Given the description of an element on the screen output the (x, y) to click on. 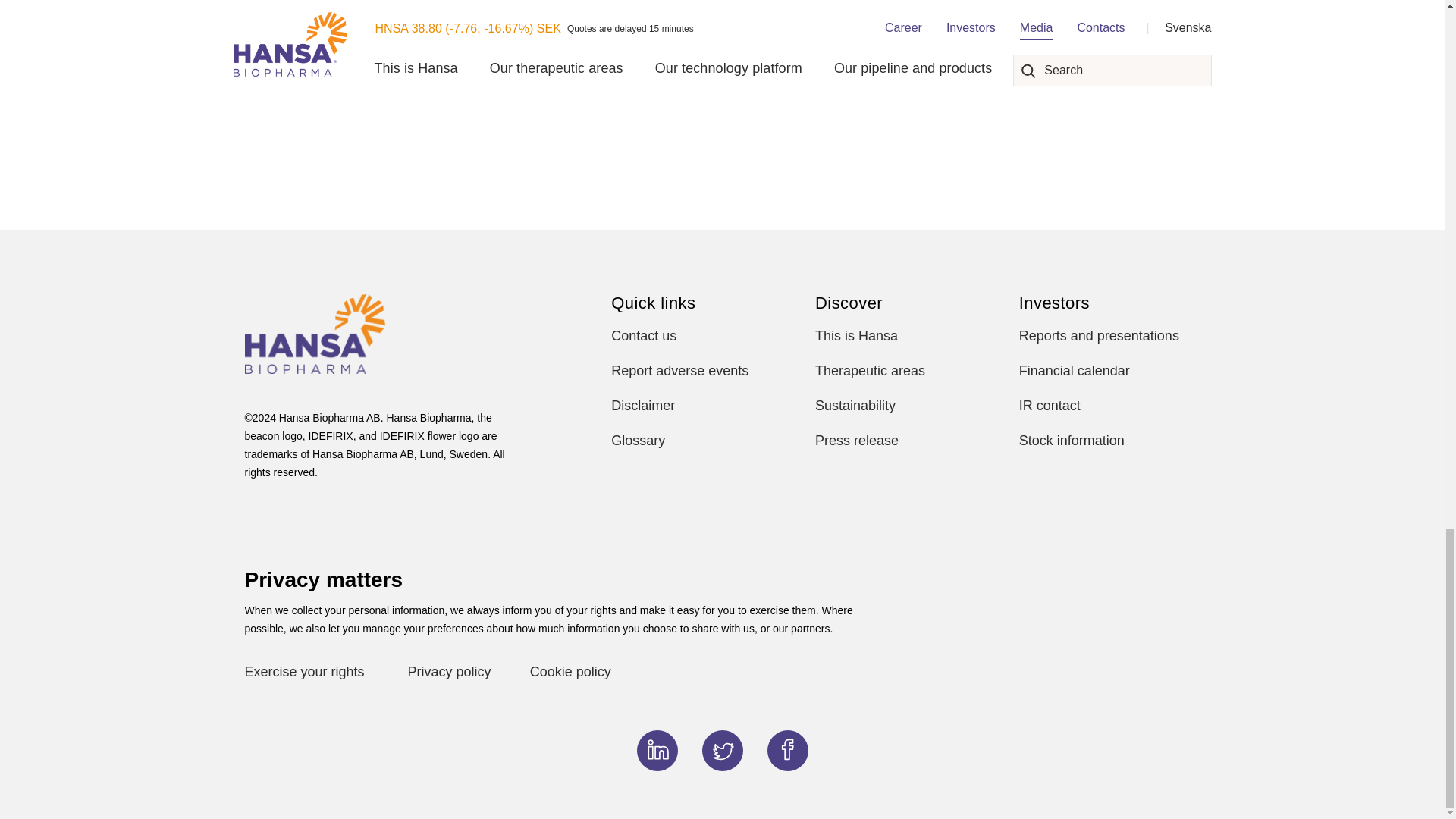
LinkedIn (657, 749)
Facebook (787, 749)
Twitter (721, 749)
